Given the description of an element on the screen output the (x, y) to click on. 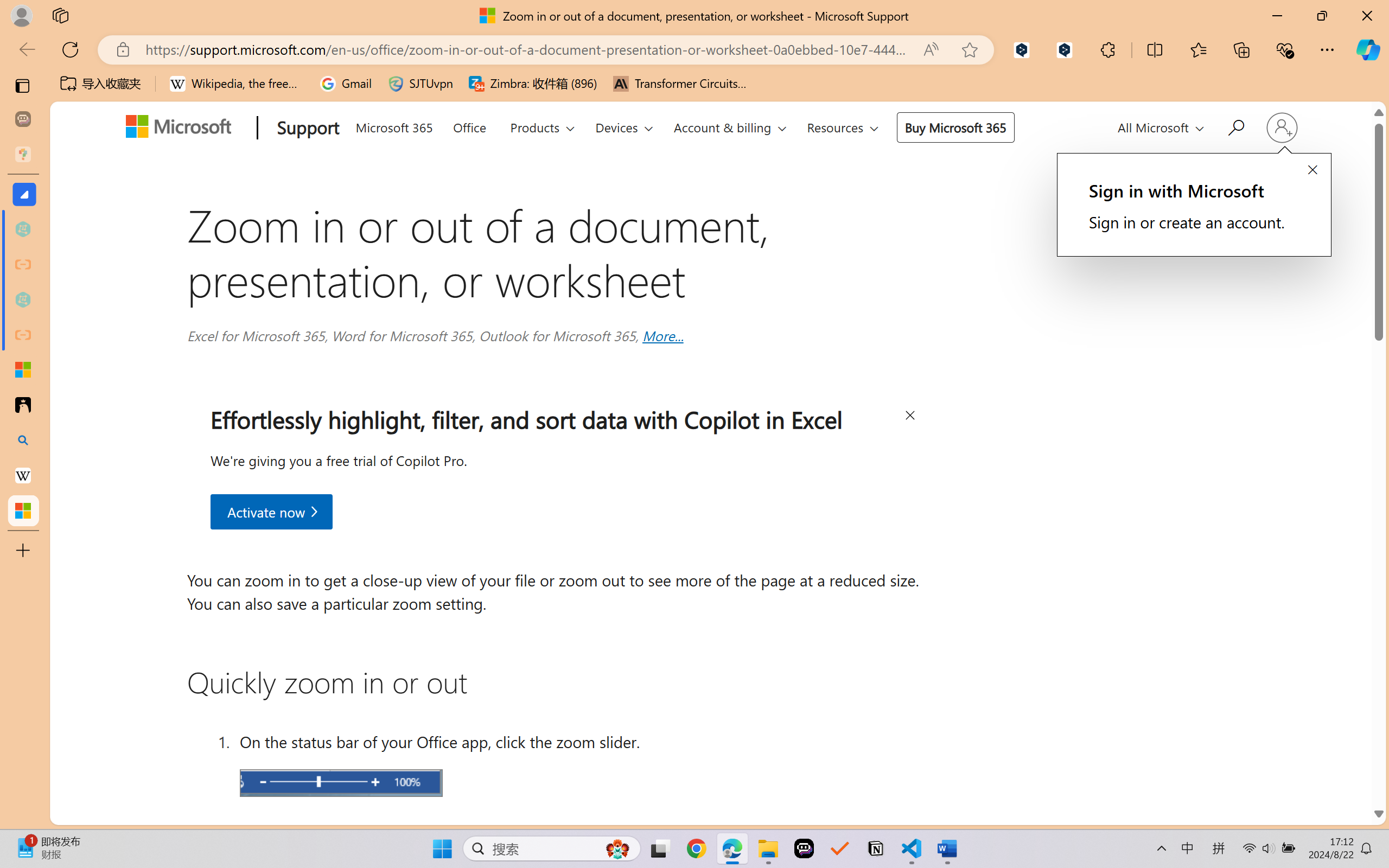
Microsoft 365 (394, 125)
Wikipedia, the free encyclopedia (236, 83)
Transformer Circuits Thread (680, 83)
Earth - Wikipedia (22, 475)
